Given the description of an element on the screen output the (x, y) to click on. 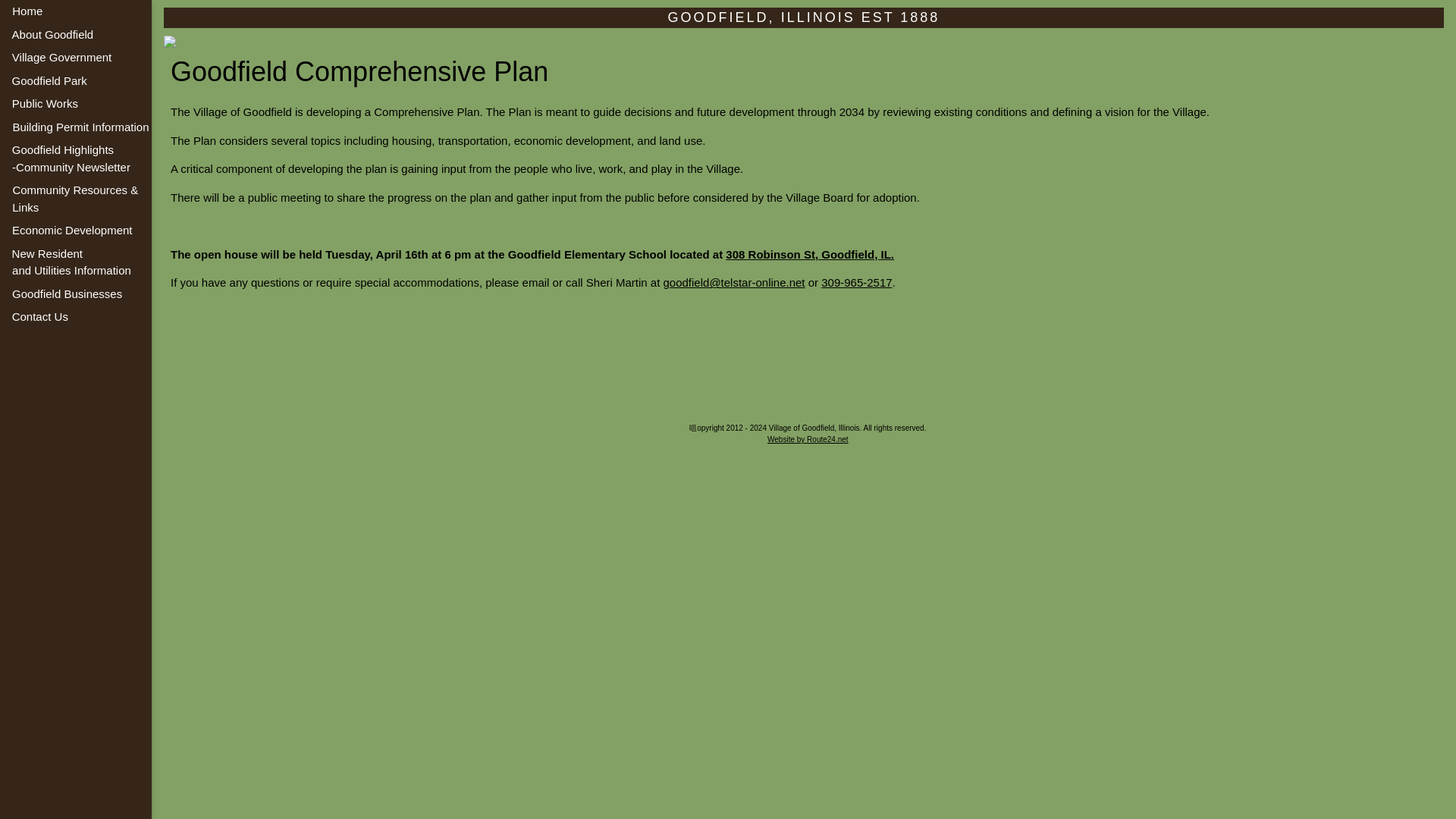
Economic Development (66, 230)
Contact Us (69, 262)
Public Works (74, 317)
Building Permit Information (42, 104)
Village Government (48, 126)
309-965-2517 (57, 158)
Goodfield Park (27, 57)
Website by Route24.net (856, 282)
